Given the description of an element on the screen output the (x, y) to click on. 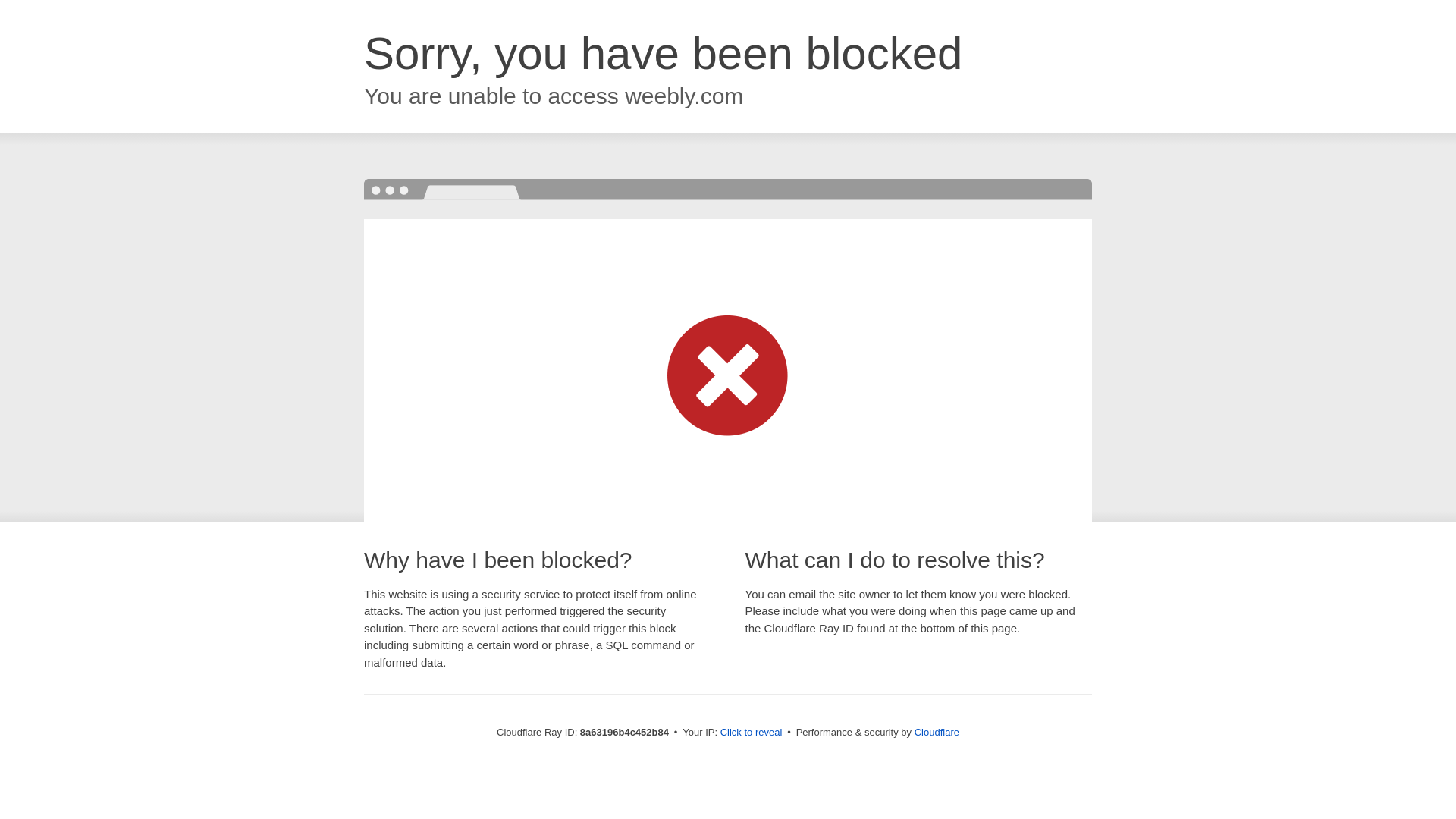
Click to reveal (751, 732)
Cloudflare (936, 731)
